Given the description of an element on the screen output the (x, y) to click on. 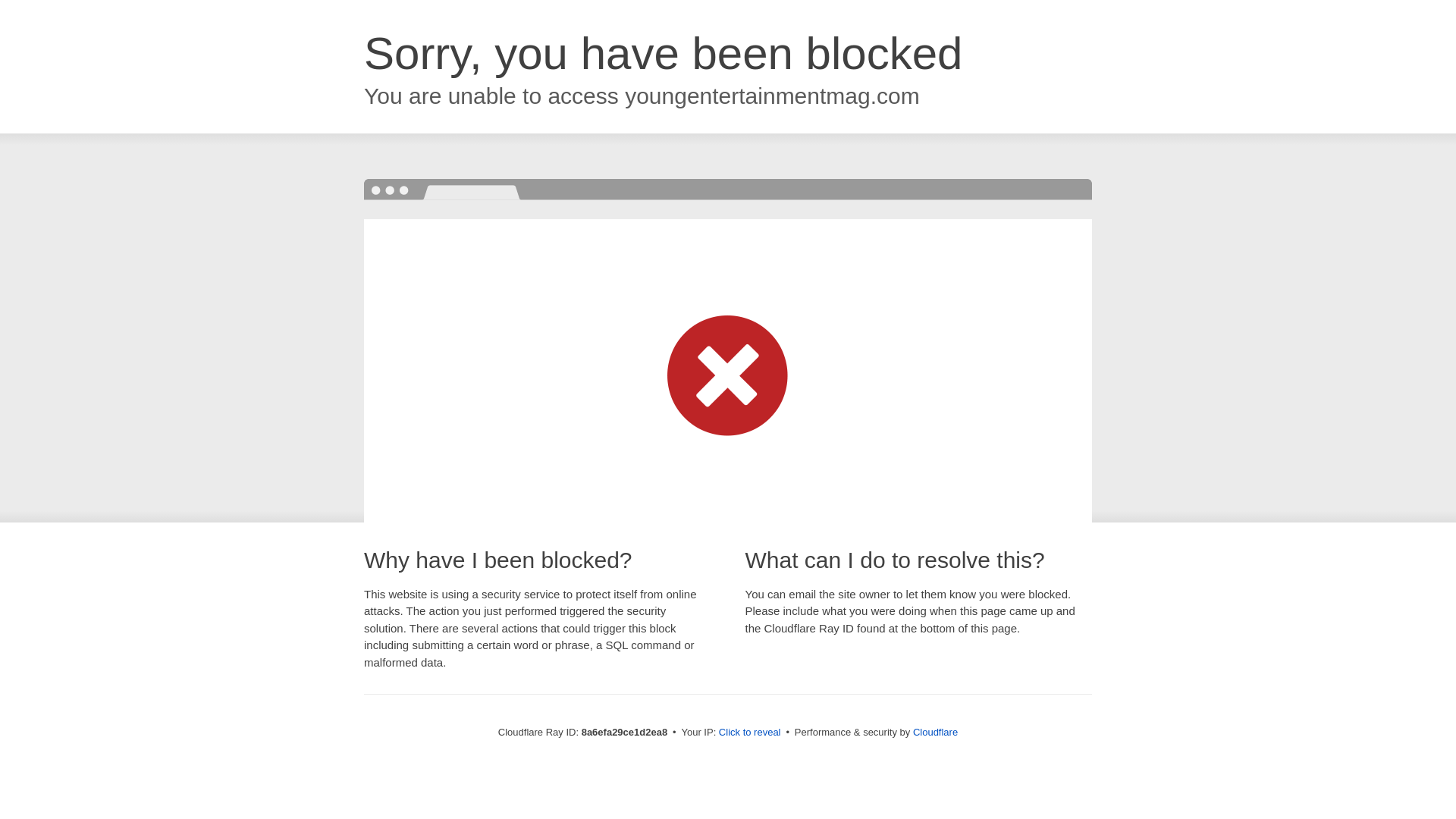
Cloudflare (935, 731)
Click to reveal (749, 732)
